Given the description of an element on the screen output the (x, y) to click on. 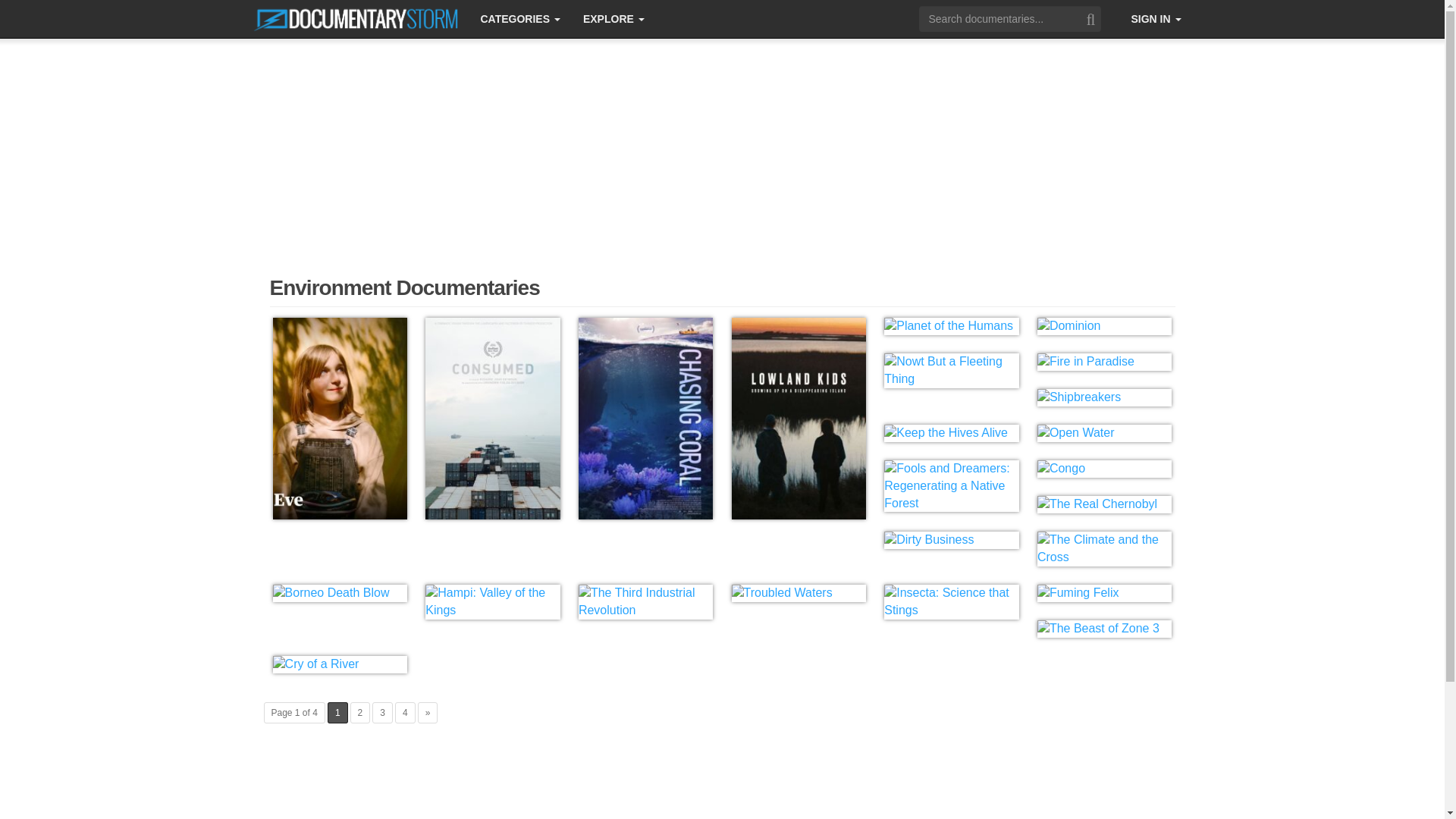
Advertisement (721, 788)
Page 3 (382, 712)
Page 4 (404, 712)
Page 2 (360, 712)
SIGN IN (1155, 18)
EXPLORE (614, 18)
CATEGORIES (519, 18)
